Given the description of an element on the screen output the (x, y) to click on. 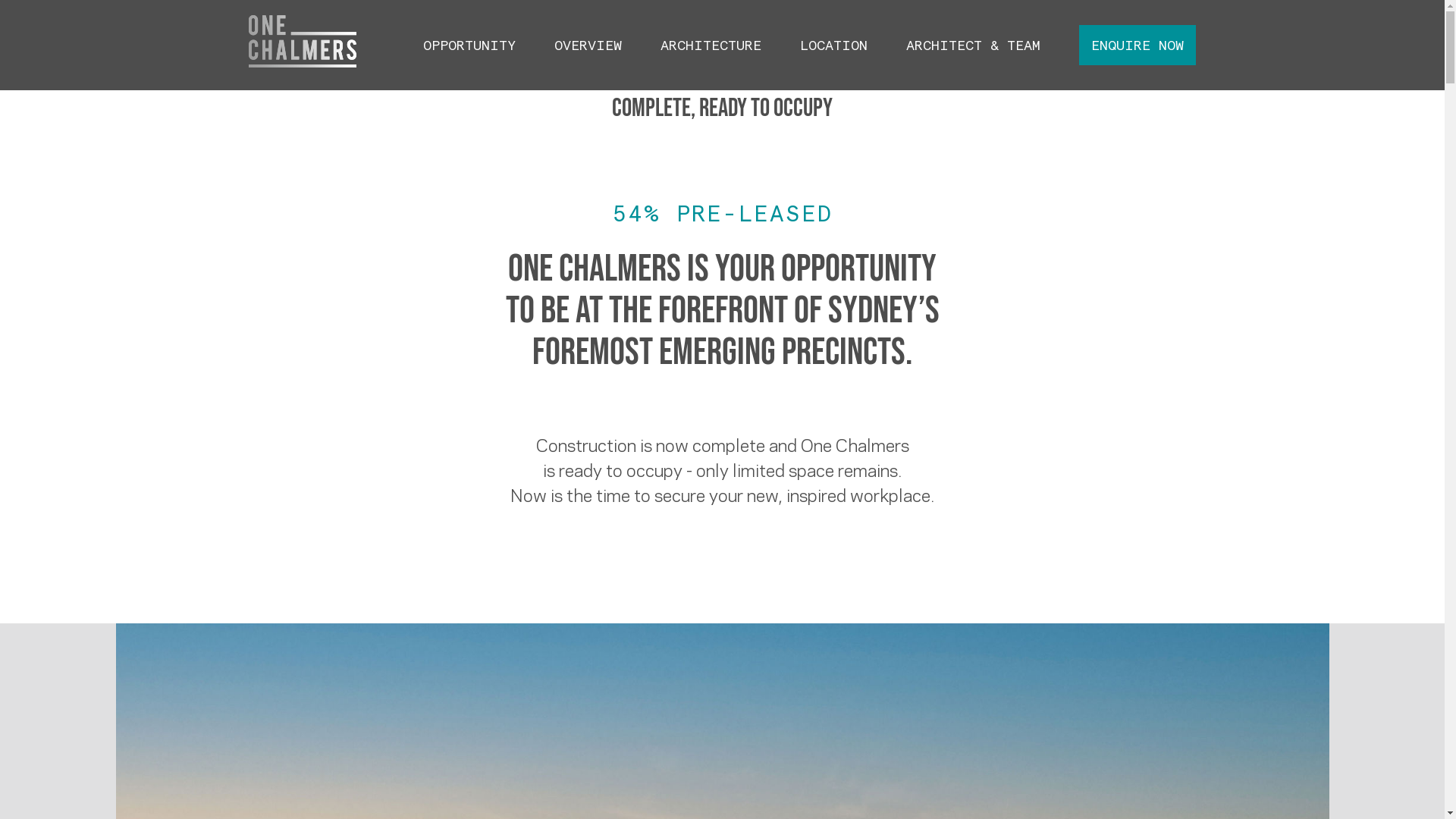
OVERVIEW Element type: text (587, 45)
ARCHITECT & TEAM Element type: text (973, 45)
LOCATION Element type: text (833, 45)
ARCHITECTURE Element type: text (710, 45)
ENQUIRE NOW Element type: text (1137, 45)
OPPORTUNITY Element type: text (469, 45)
